Given the description of an element on the screen output the (x, y) to click on. 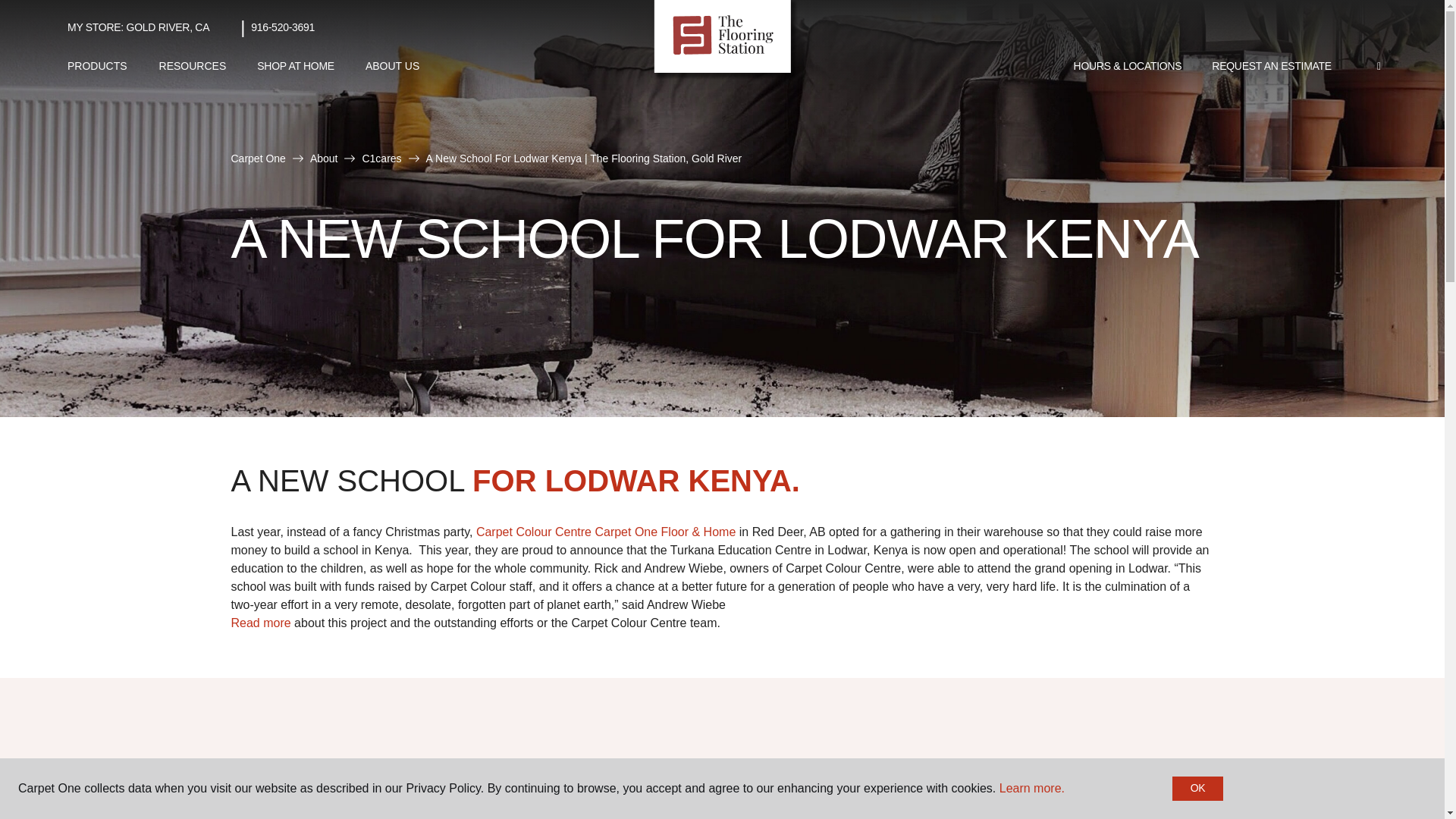
PRODUCTS (97, 66)
RESOURCES (193, 66)
916-520-3691 (282, 27)
MY STORE: GOLD RIVER, CA (137, 27)
SHOP AT HOME (295, 66)
ABOUT US (392, 66)
REQUEST AN ESTIMATE (1271, 66)
